Given the description of an element on the screen output the (x, y) to click on. 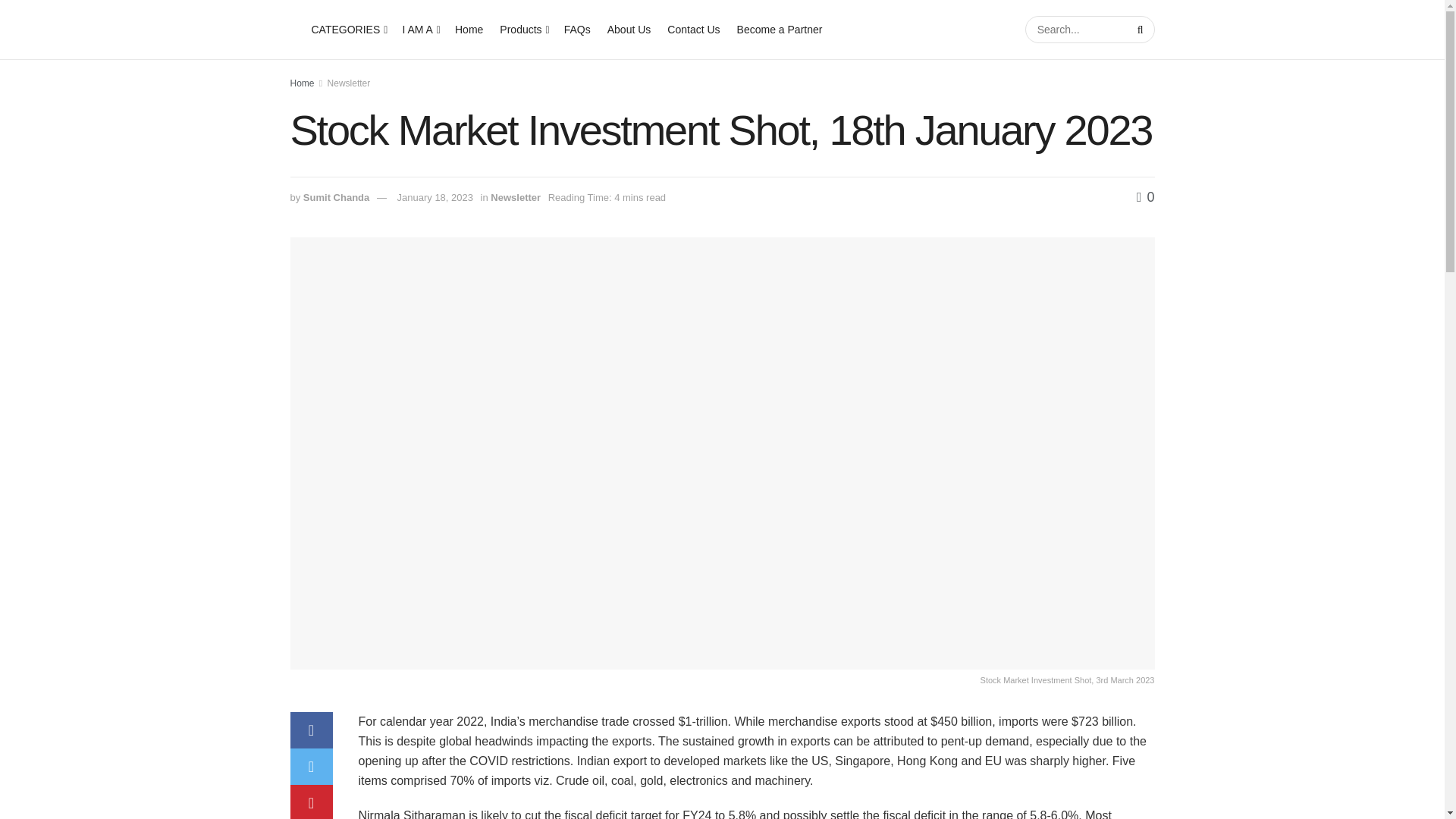
Become a Partner (779, 29)
Products (523, 29)
About Us (628, 29)
FAQs (577, 29)
I AM A (419, 29)
Contact Us (692, 29)
CATEGORIES (348, 29)
Home (468, 29)
